Given the description of an element on the screen output the (x, y) to click on. 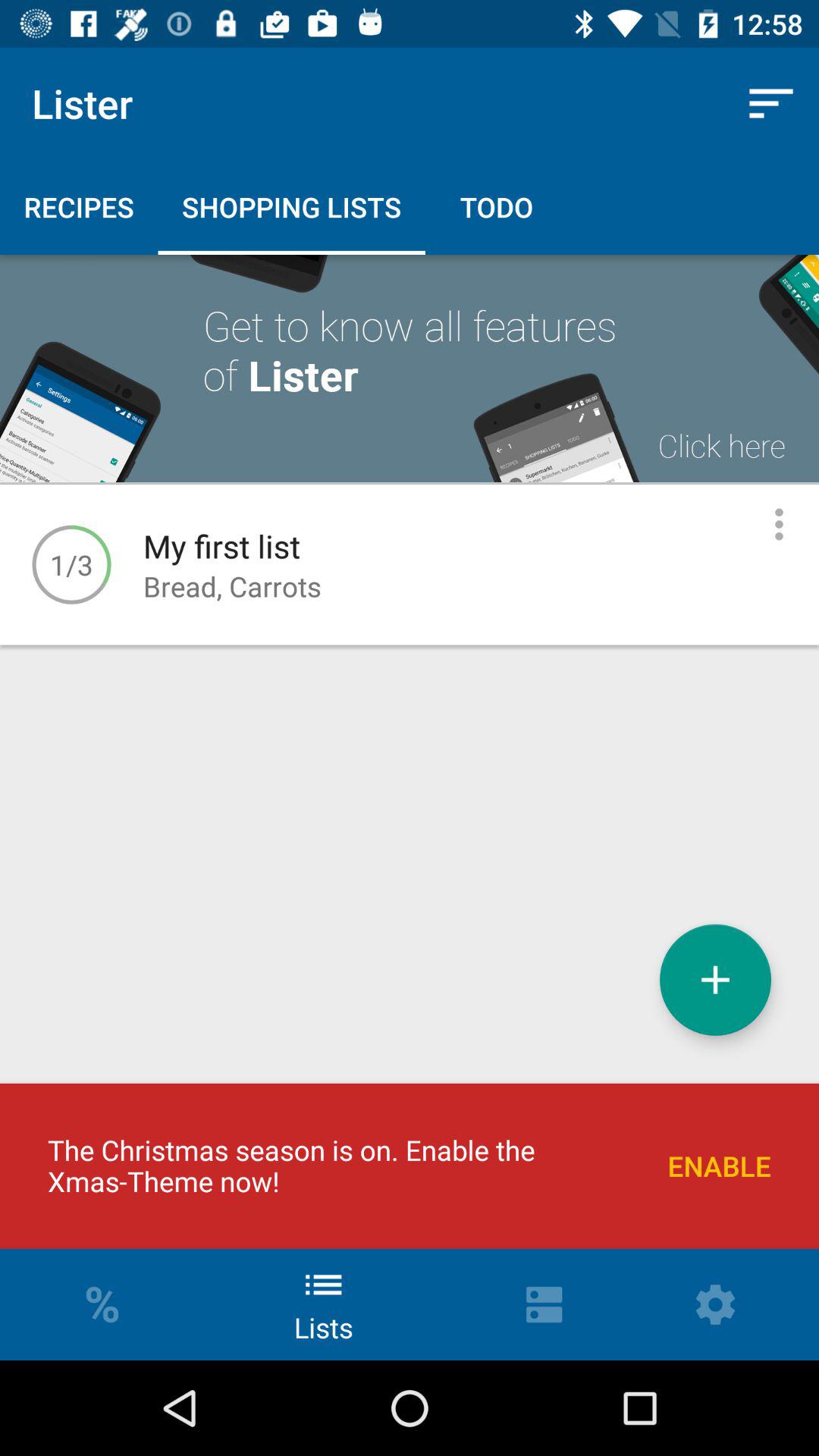
launch the icon to the right of lister item (771, 103)
